Given the description of an element on the screen output the (x, y) to click on. 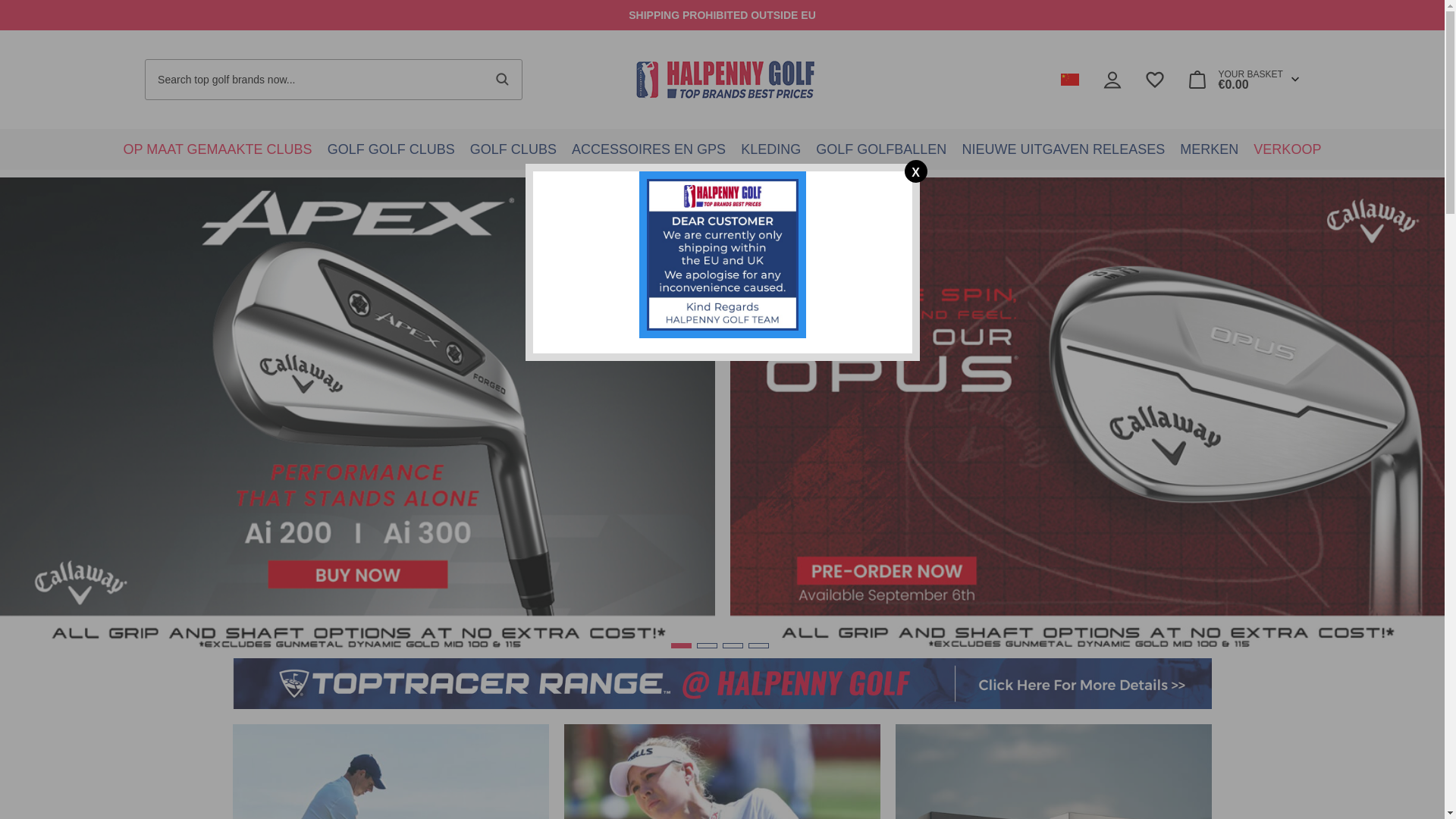
Bekijk alle golfclubs (391, 148)
Account login (1111, 79)
Bekijk alle op maat gemaakte golfclubs (217, 148)
OP MAAT GEMAAKTE CLUBS (217, 148)
Bekijk alle golfclubs (513, 148)
Bekijk Golfballen (880, 148)
Bekijk Golfkleding (770, 148)
GOLF CLUBS (391, 148)
Wishlist (1153, 79)
Country Settings (1068, 79)
